Given the description of an element on the screen output the (x, y) to click on. 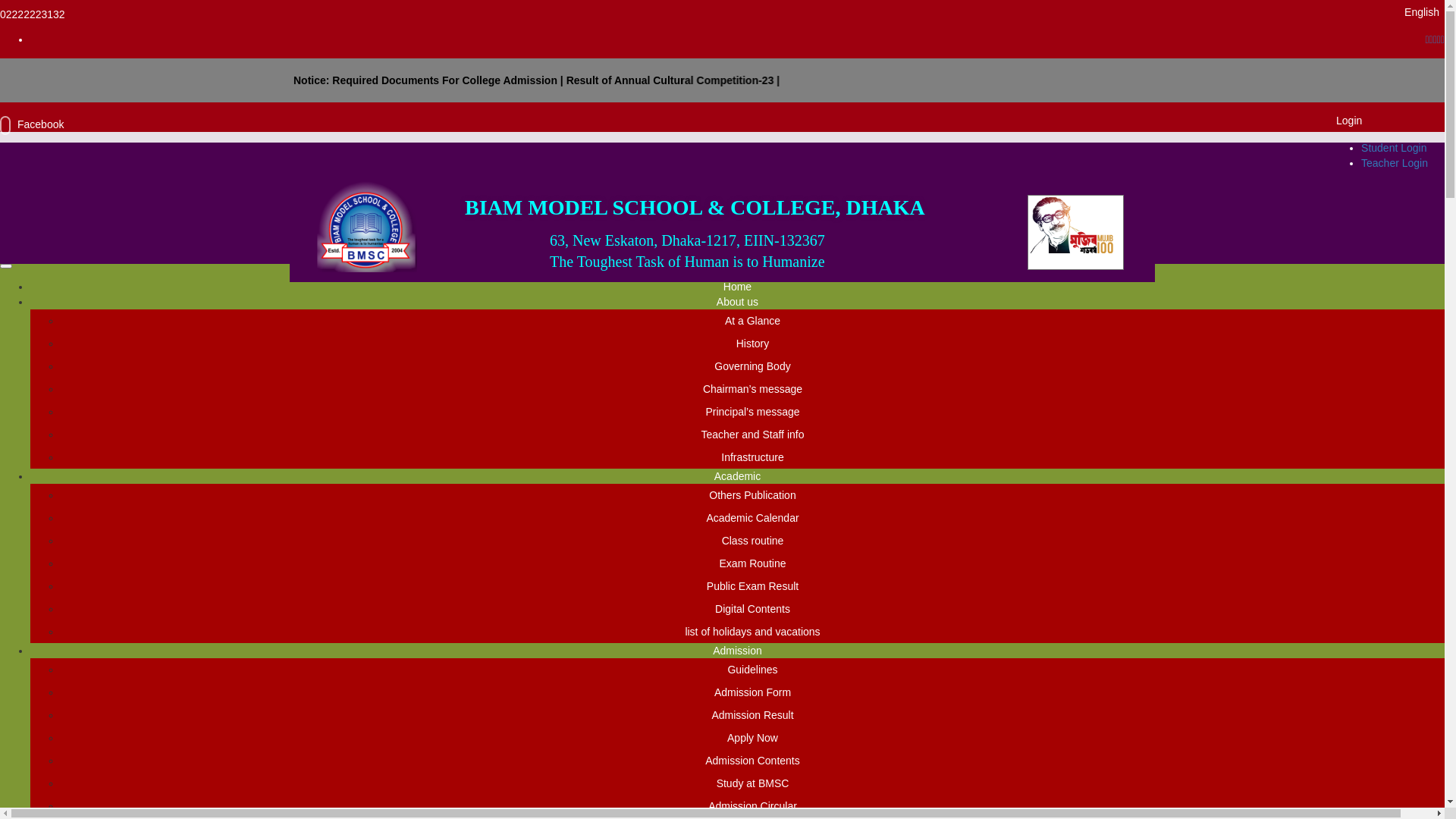
Admission Contents Element type: text (752, 760)
Apply Now Element type: text (752, 737)
Teacher Login Element type: text (1394, 162)
Academic Calendar Element type: text (752, 517)
Admission Result Element type: text (752, 715)
English Element type: text (1421, 12)
Governing Body Element type: text (752, 366)
Exam Routine Element type: text (752, 563)
Academic Element type: text (737, 475)
Teacher and Staff info Element type: text (752, 434)
About us Element type: text (737, 301)
Guidelines Element type: text (752, 669)
History Element type: text (752, 343)
Admission Form Element type: text (752, 692)
Admission Element type: text (737, 650)
Result of Annual Cultural Competition-23 | Element type: text (1295, 80)
Others Publication Element type: text (752, 495)
Facebook Element type: text (31, 124)
Infrastructure Element type: text (752, 457)
Study at BMSC Element type: text (752, 783)
At a Glance Element type: text (752, 320)
Login Element type: text (1348, 120)
Home Element type: text (737, 286)
list of holidays and vacations Element type: text (751, 631)
Public Exam Result Element type: text (752, 586)
Digital Contents Element type: text (752, 608)
Required Documents For College Admission | Element type: text (1072, 80)
Admission Circular Element type: text (752, 806)
Student Login Element type: text (1393, 147)
Toggle navigation Element type: text (6, 265)
Class routine Element type: text (752, 540)
